Given the description of an element on the screen output the (x, y) to click on. 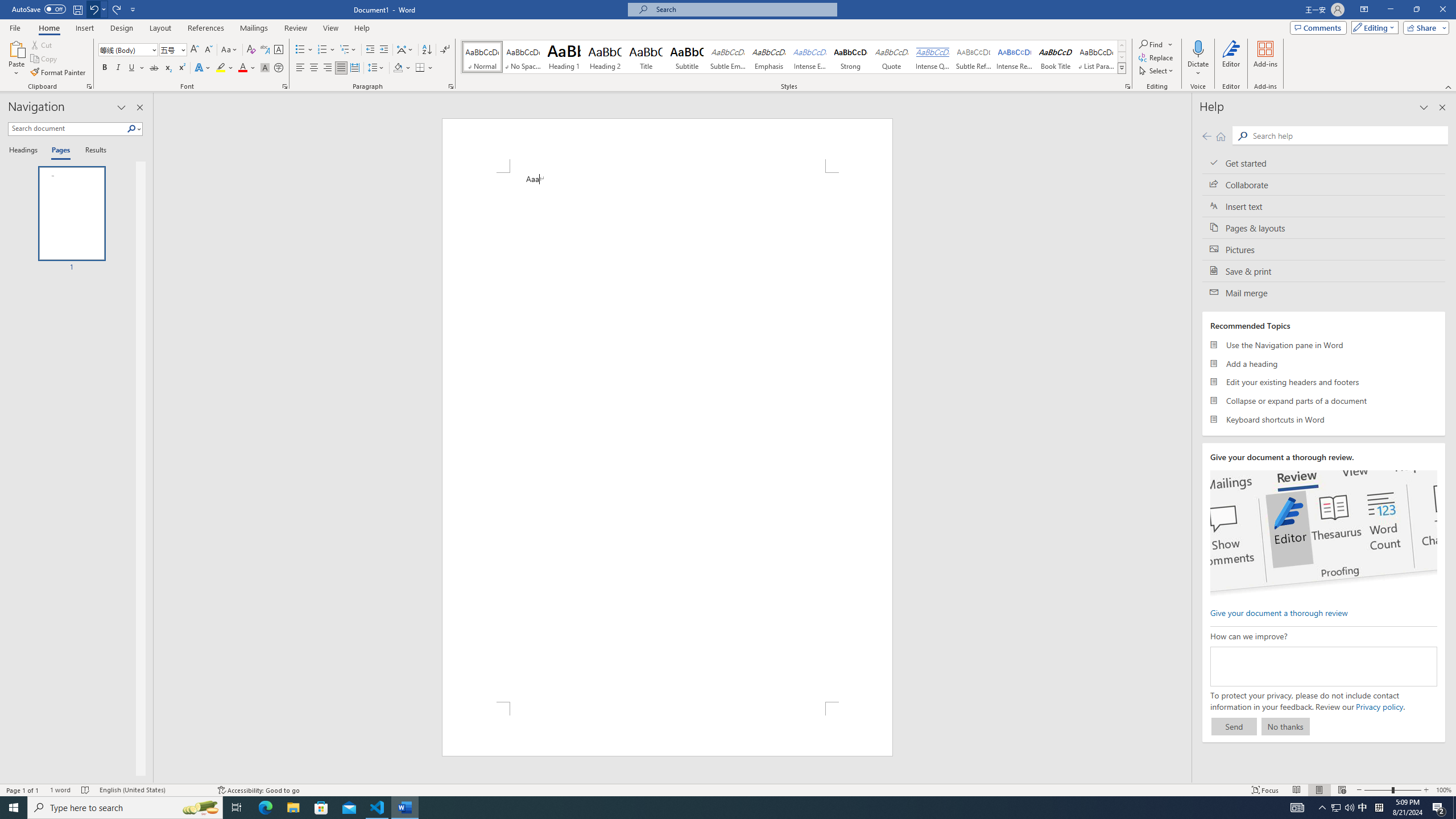
Bold (104, 67)
Home (48, 28)
Language English (United States) (152, 790)
Pages (59, 150)
Collapse the Ribbon (1448, 86)
Intense Reference (1014, 56)
AutoSave (38, 9)
Privacy policy (1379, 706)
Review (295, 28)
Shading RGB(0, 0, 0) (397, 67)
Search (133, 128)
Results (91, 150)
Insert (83, 28)
Customize Quick Access Toolbar (133, 9)
Center (313, 67)
